Given the description of an element on the screen output the (x, y) to click on. 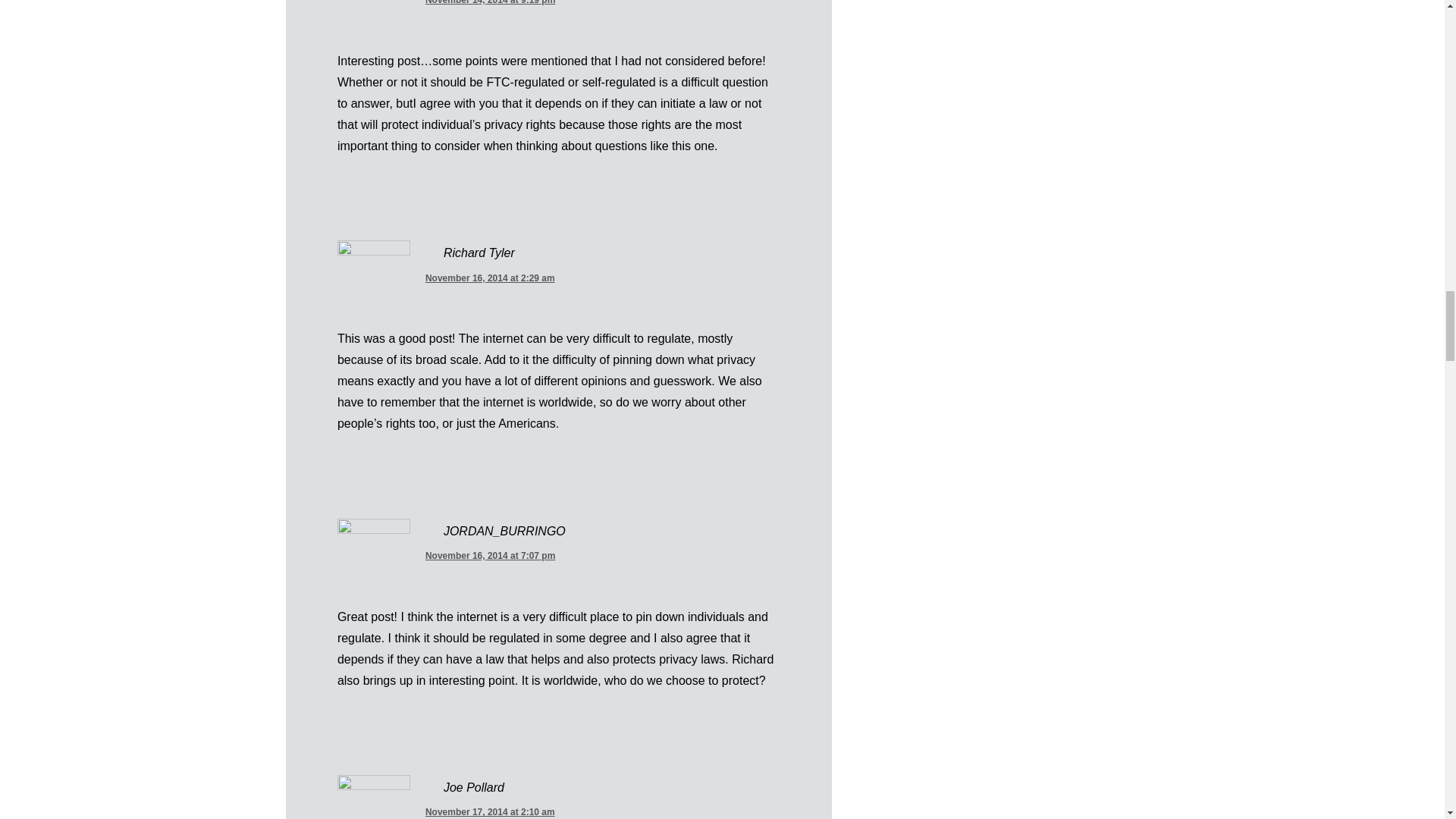
November 16, 2014 at 2:29 am (489, 277)
November 14, 2014 at 9:19 pm (489, 2)
November 16, 2014 at 7:07 pm (489, 554)
November 17, 2014 at 2:10 am (489, 810)
